Given the description of an element on the screen output the (x, y) to click on. 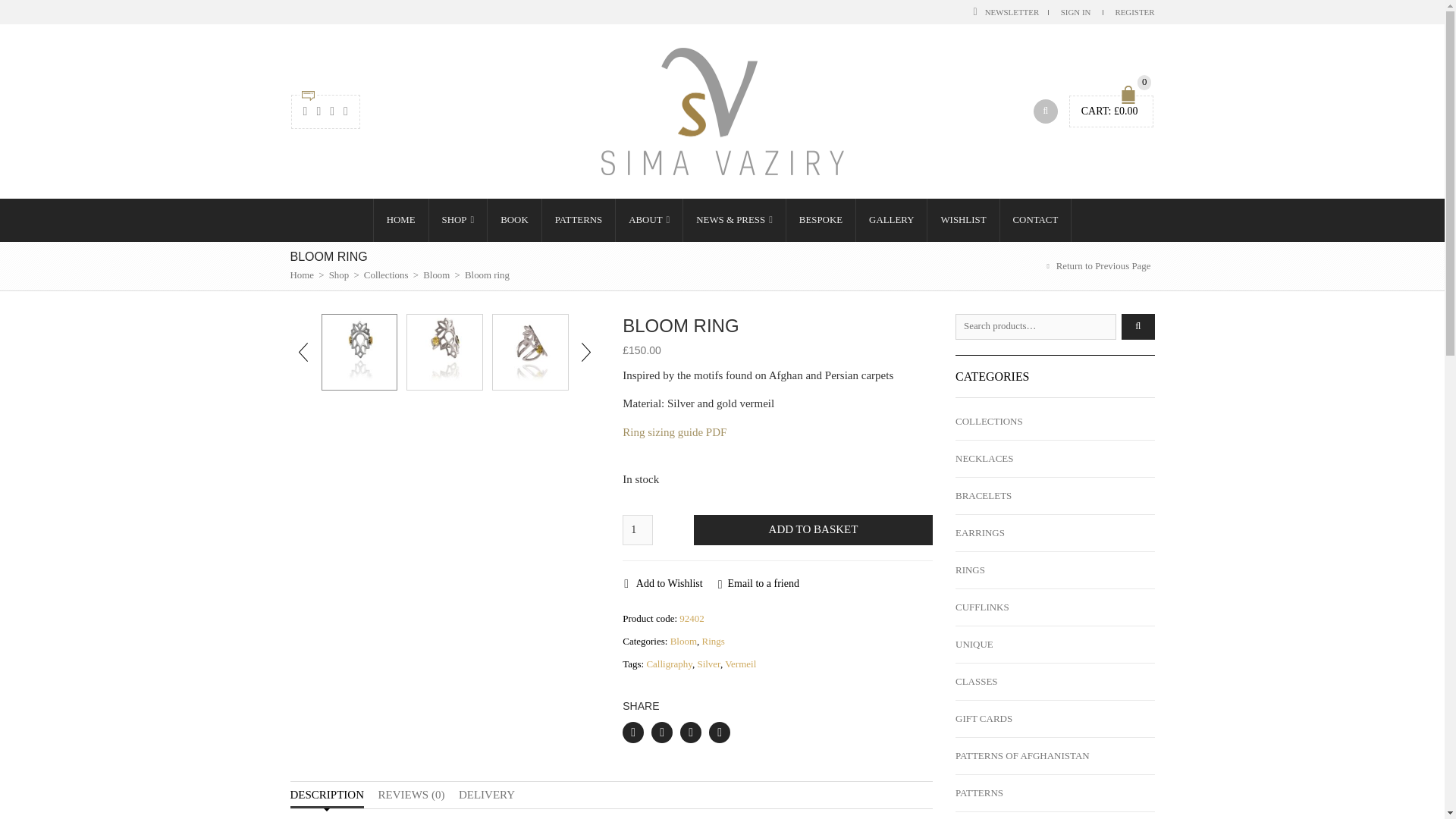
Facebook (633, 731)
Bloom ring silver vermeil 92402 3 (530, 351)
1 (637, 530)
Twitter (661, 731)
Qty (637, 530)
Bloom ring silver vermeil 92402 1 (358, 351)
Pinterest (690, 731)
Bloom ring silver vermeil 92402 1 (359, 351)
Bloom ring silver vermeil 92402 2 (444, 351)
